Given the description of an element on the screen output the (x, y) to click on. 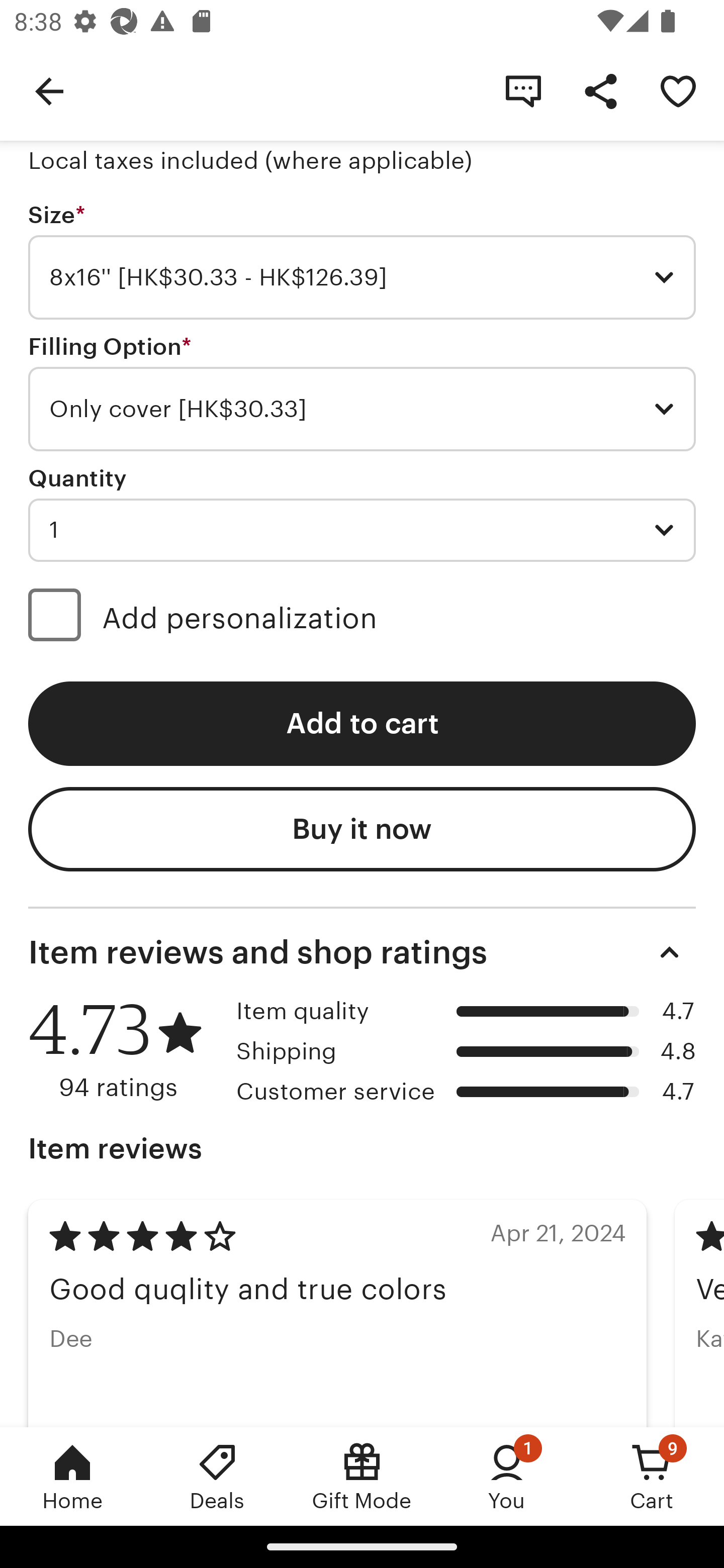
Navigate up (49, 90)
Contact shop (523, 90)
Share (600, 90)
Size * Required 8x16'' [HK$30.33 - HK$126.39] (361, 260)
8x16'' [HK$30.33 - HK$126.39] (361, 277)
Filling Option * Required Only cover [HK$30.33] (361, 392)
Only cover [HK$30.33] (361, 408)
Quantity (77, 477)
1 (361, 529)
Add personalization (optional) Add personalization (362, 617)
Add to cart (361, 723)
Buy it now (361, 829)
Item reviews and shop ratings (362, 952)
4.73 94 ratings (125, 1050)
Deals (216, 1475)
Gift Mode (361, 1475)
You, 1 new notification You (506, 1475)
Cart, 9 new notifications Cart (651, 1475)
